Given the description of an element on the screen output the (x, y) to click on. 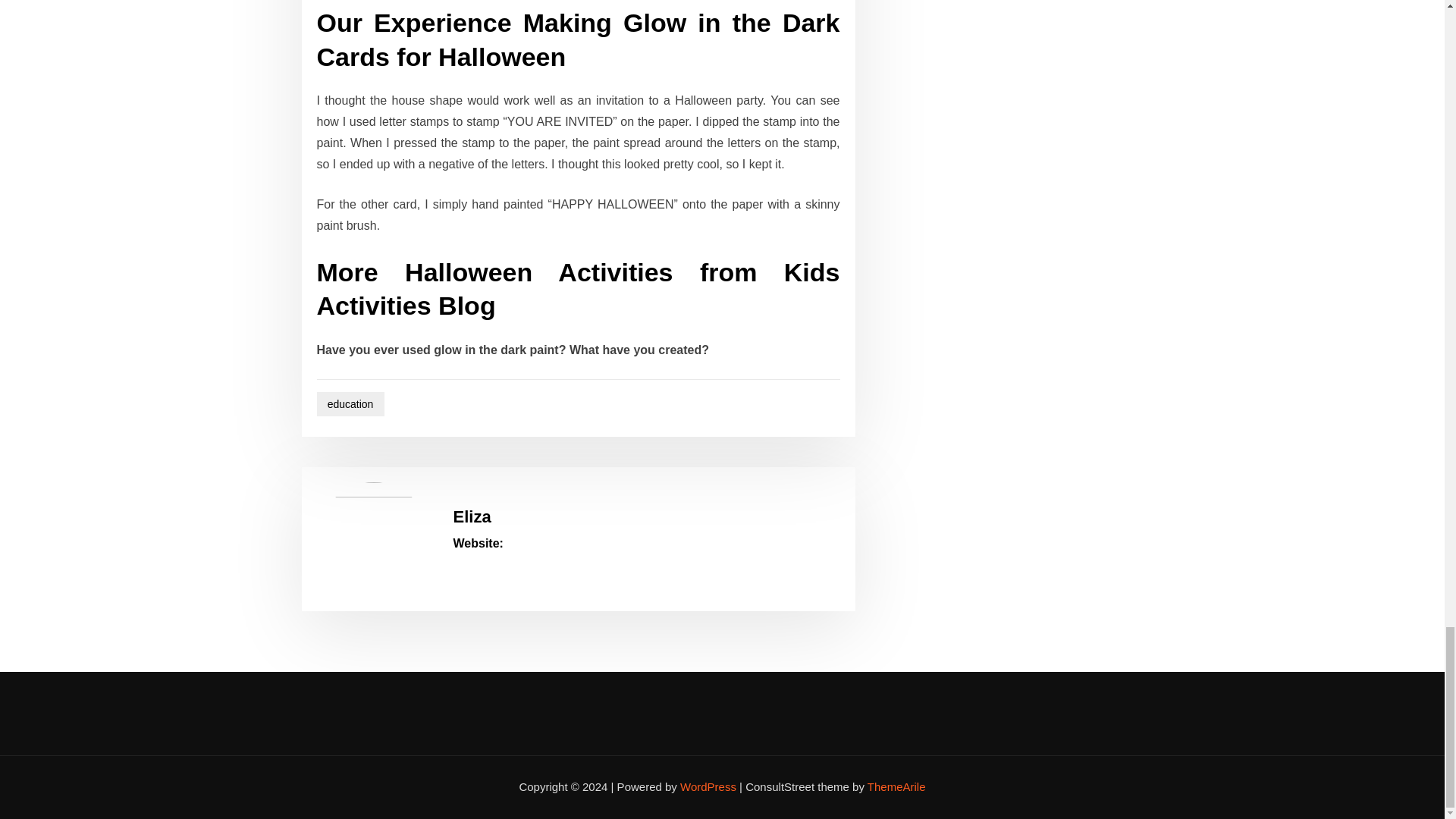
education (350, 404)
